Given the description of an element on the screen output the (x, y) to click on. 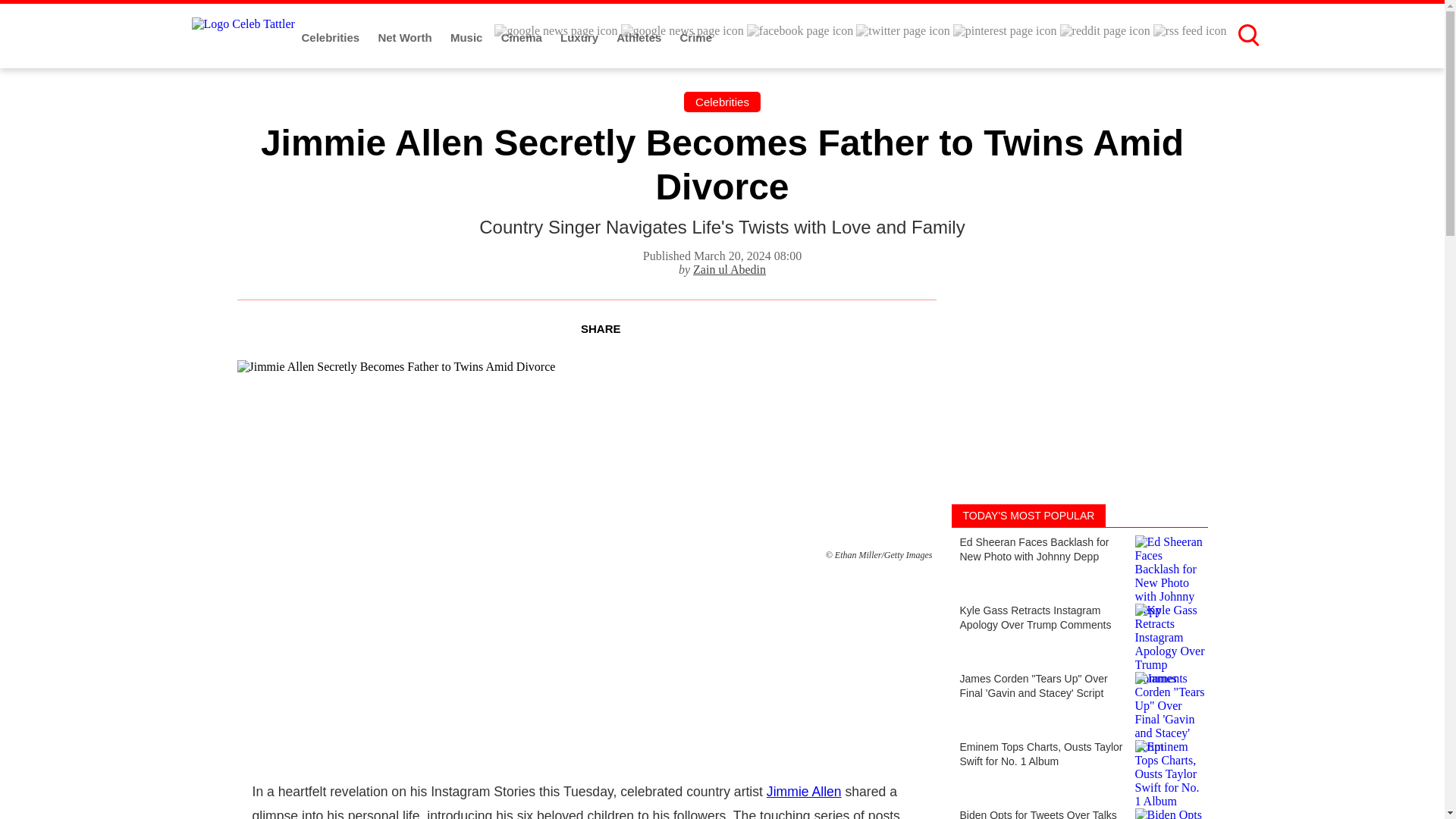
Celebrities (331, 37)
Crime (696, 37)
Athletes (639, 37)
Music (467, 37)
Celebrities (722, 101)
Zain ul Abedin (729, 269)
Cinema (522, 37)
Jimmie Allen (804, 791)
Net Worth (406, 37)
Luxury (580, 37)
